Given the description of an element on the screen output the (x, y) to click on. 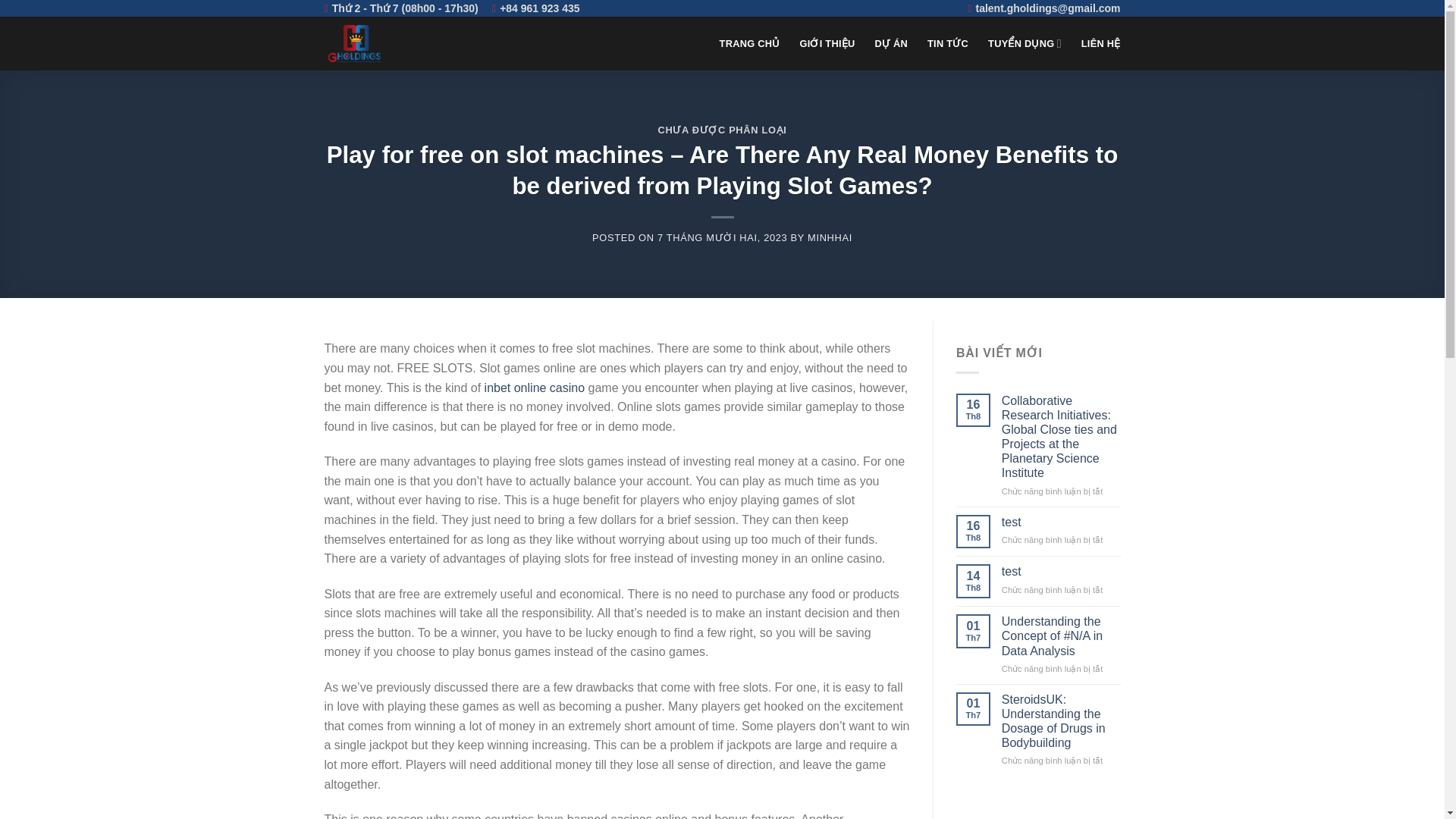
test (1061, 522)
inbet online casino (534, 387)
MINHHAI (829, 237)
test (1061, 522)
test (1061, 571)
test (1061, 571)
